Given the description of an element on the screen output the (x, y) to click on. 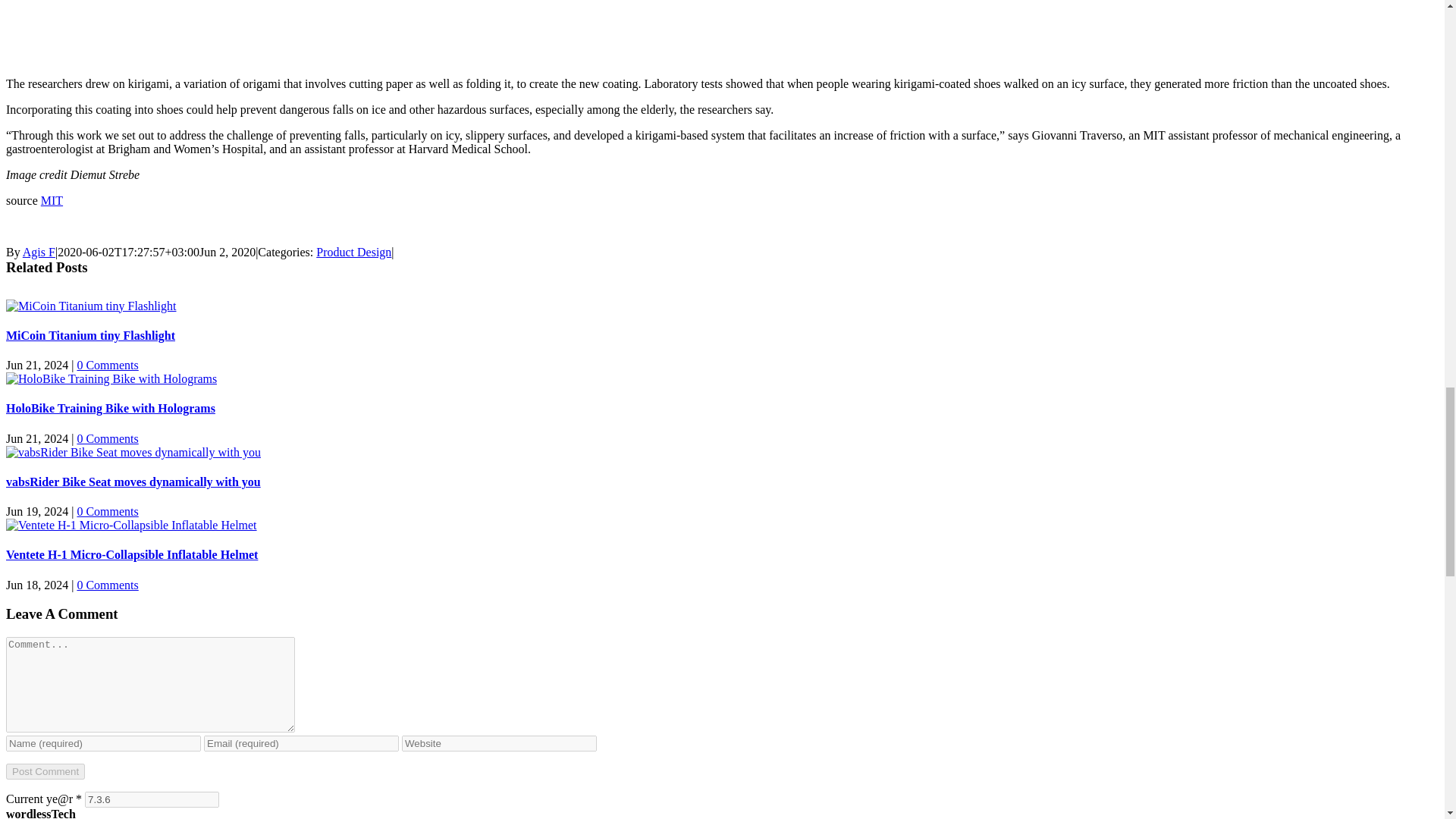
Post Comment (44, 771)
Posts by Agis F (39, 251)
7.3.6 (151, 799)
Super-grip sole could improve traction on slick surfaces 2 (195, 31)
